Given the description of an element on the screen output the (x, y) to click on. 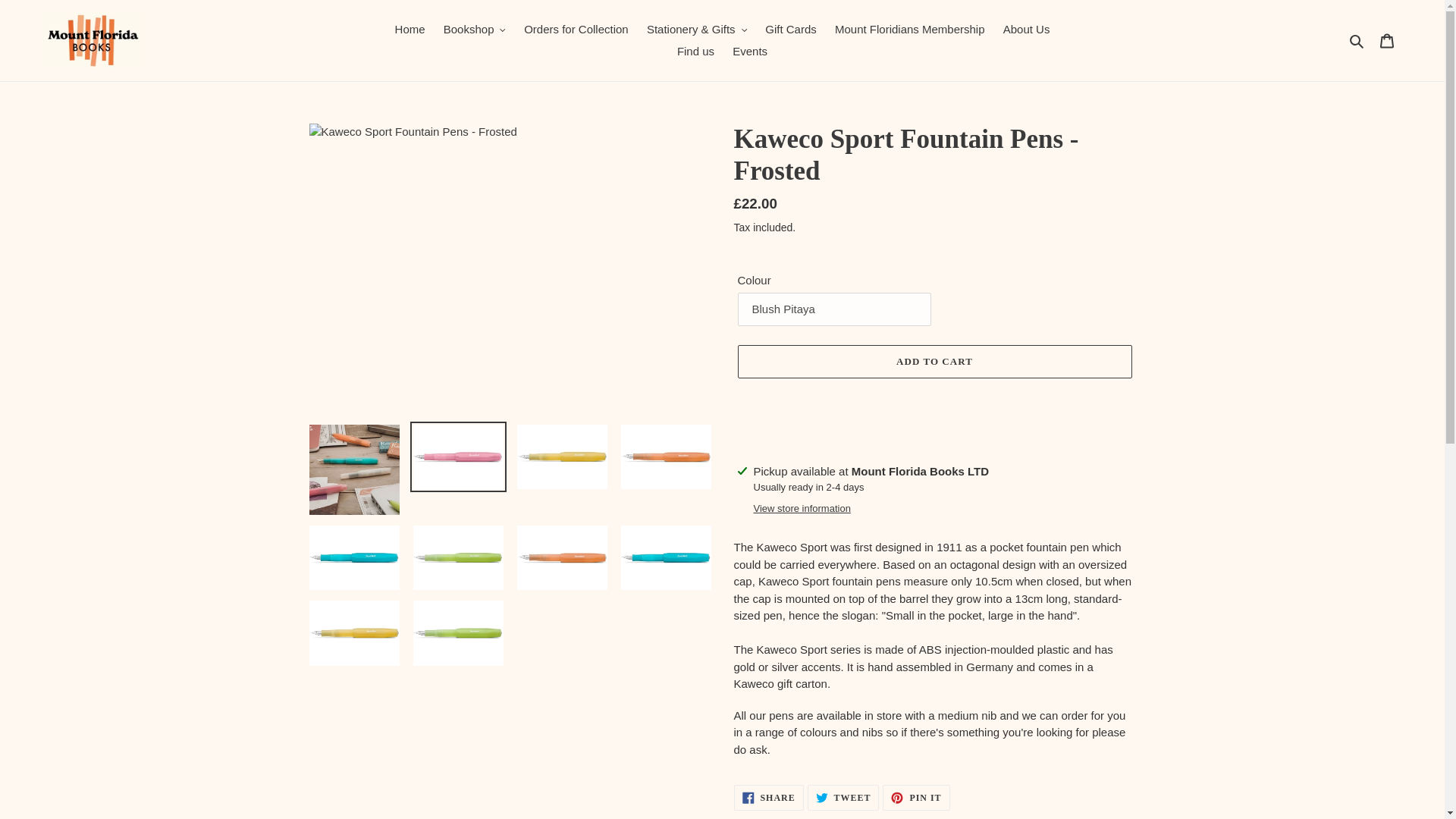
Orders for Collection (576, 29)
Home (409, 29)
Bookshop (474, 29)
